Given the description of an element on the screen output the (x, y) to click on. 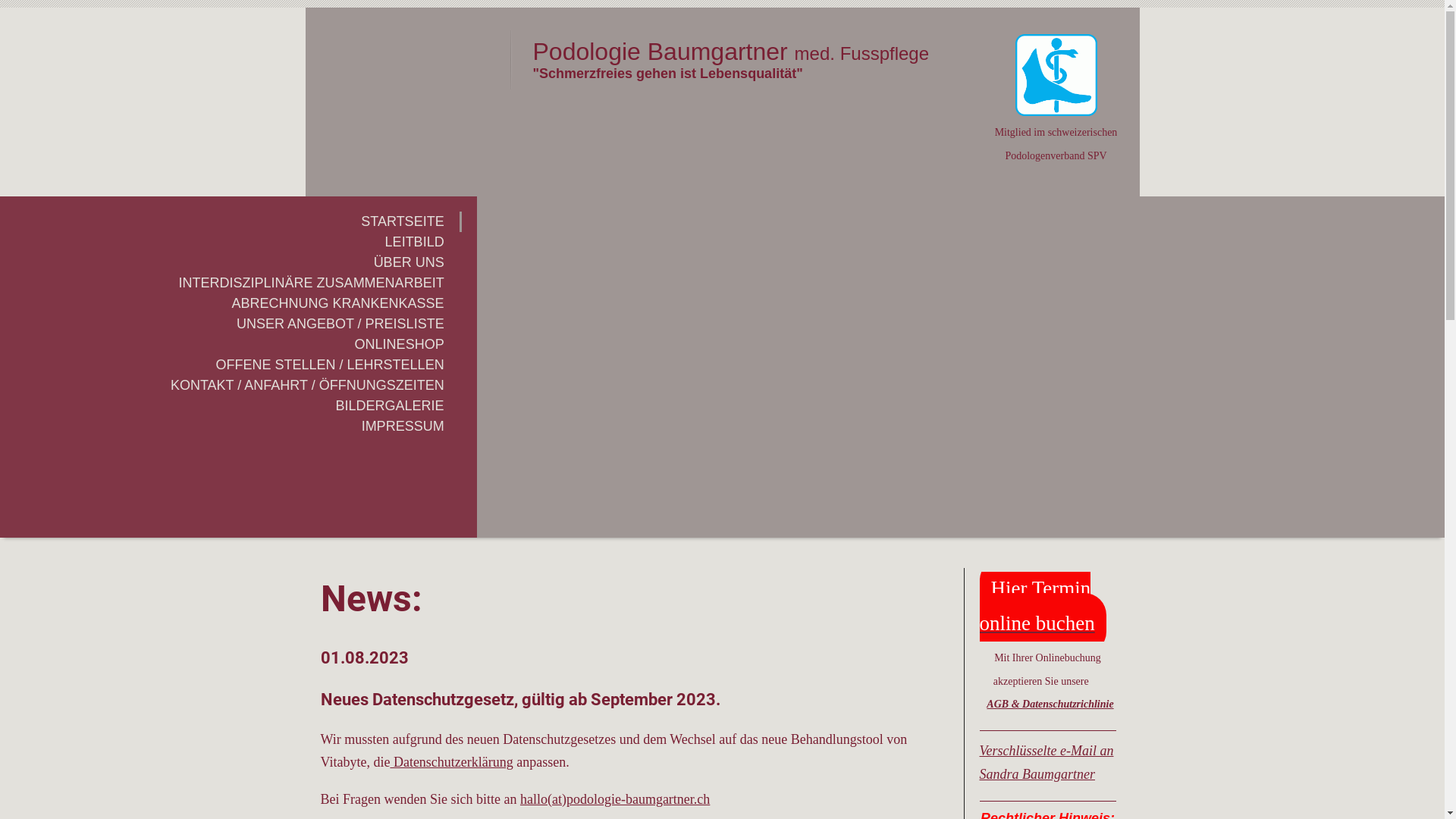
OFFENE STELLEN / LEHRSTELLEN Element type: text (230, 364)
IMPRESSUM Element type: text (230, 426)
Hier Termin online buchen Element type: text (1042, 605)
hallo(at)podologie-baumgartner.ch Element type: text (614, 798)
ONLINESHOP Element type: text (230, 344)
  Element type: text (406, 41)
BILDERGALERIE Element type: text (230, 405)
UNSER ANGEBOT / PREISLISTE Element type: text (230, 323)
STARTSEITE Element type: text (230, 221)
LEITBILD Element type: text (230, 242)
AGB & Datenschutzrichlinie Element type: text (1049, 703)
ABRECHNUNG KRANKENKASSE Element type: text (230, 303)
